Given the description of an element on the screen output the (x, y) to click on. 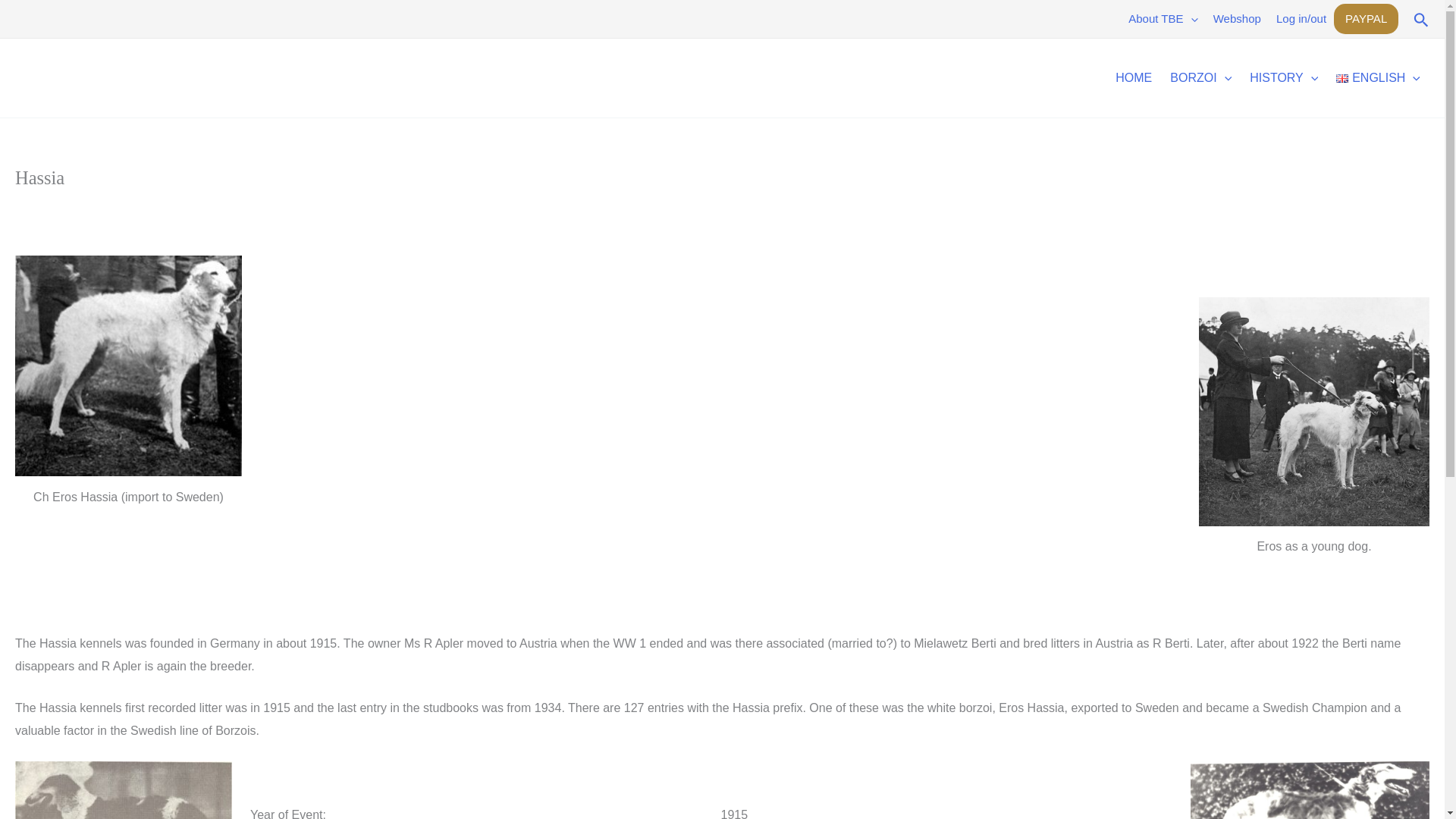
Webshop (1236, 18)
ENGLISH (1377, 77)
About TBE (1163, 18)
PAYPAL (1365, 19)
BORZOI (1200, 77)
HISTORY (1283, 77)
